Given the description of an element on the screen output the (x, y) to click on. 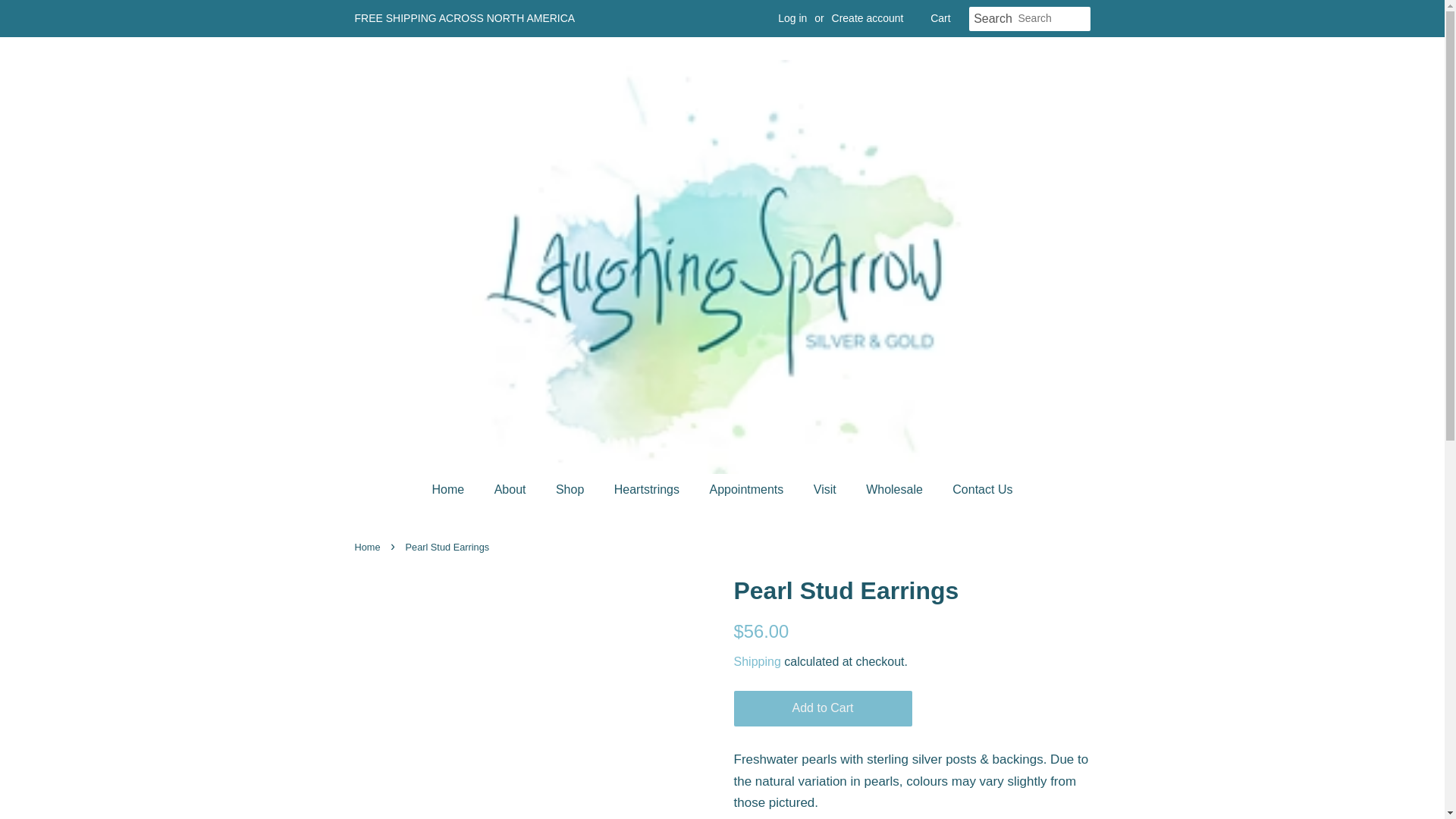
Back to the frontpage (369, 546)
Shop (571, 489)
Visit (826, 489)
Heartstrings (648, 489)
Home (456, 489)
Create account (867, 18)
Search (993, 18)
Log in (791, 18)
Appointments (747, 489)
Cart (940, 18)
About (512, 489)
FREE SHIPPING ACROSS NORTH AMERICA (465, 18)
